Given the description of an element on the screen output the (x, y) to click on. 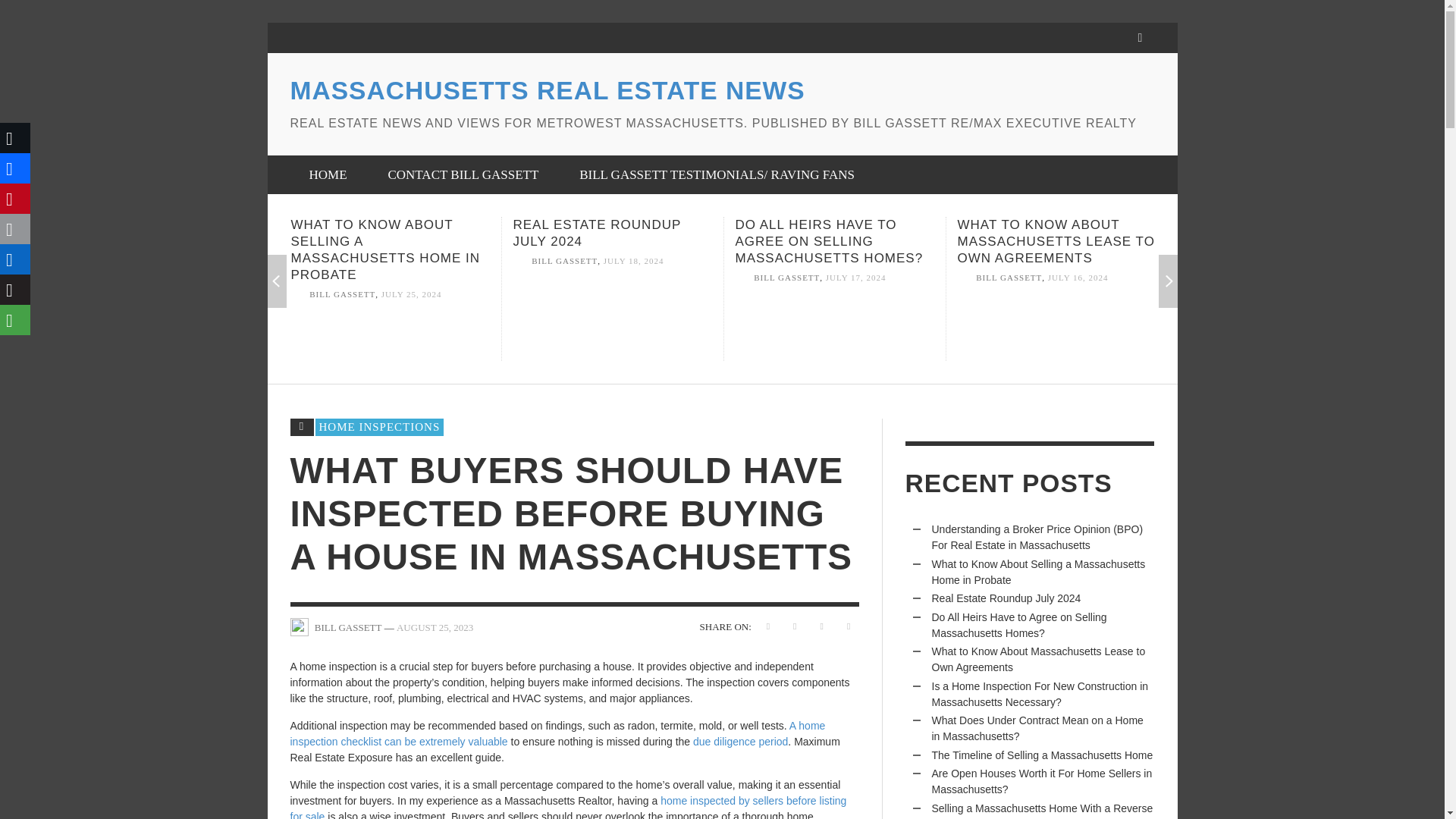
Permalink to Real Estate Roundup July 2024 (595, 232)
WHAT TO KNOW ABOUT MASSACHUSETTS LEASE TO OWN AGREEMENTS (1055, 241)
DO ALL HEIRS HAVE TO AGREE ON SELLING MASSACHUSETTS HOMES? (829, 241)
View all posts by Bill Gassett (786, 276)
WHAT TO KNOW ABOUT SELLING A MASSACHUSETTS HOME IN PROBATE (385, 249)
View all posts by Bill Gassett (1008, 276)
BILL GASSETT (1008, 276)
